Given the description of an element on the screen output the (x, y) to click on. 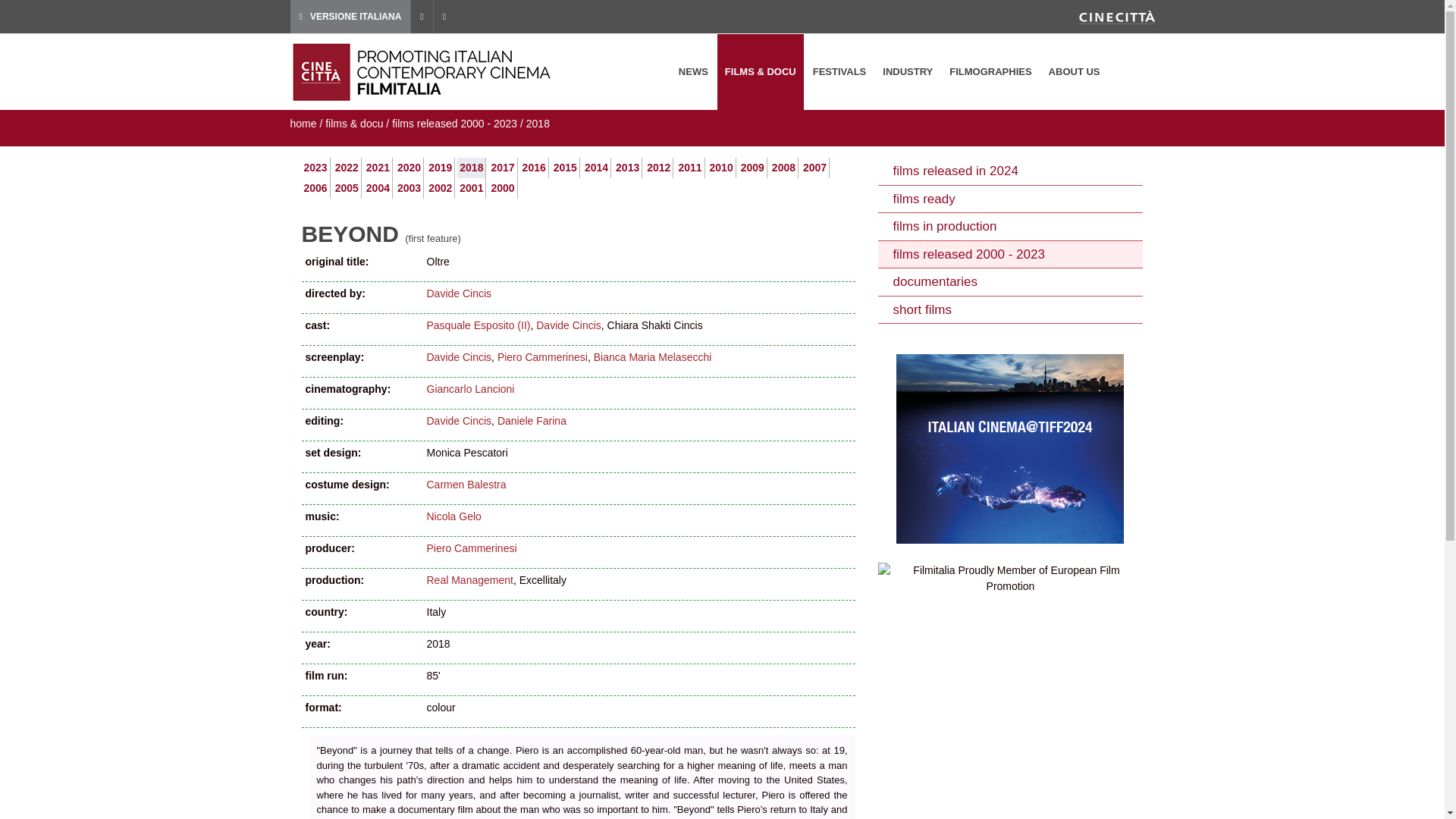
2020 (408, 167)
2005 (346, 187)
2003 (408, 187)
2015 (564, 167)
films released 2000 - 2023 (453, 123)
2006 (314, 187)
2012 (657, 167)
2011 (689, 167)
2018 (471, 167)
2007 (815, 167)
